Given the description of an element on the screen output the (x, y) to click on. 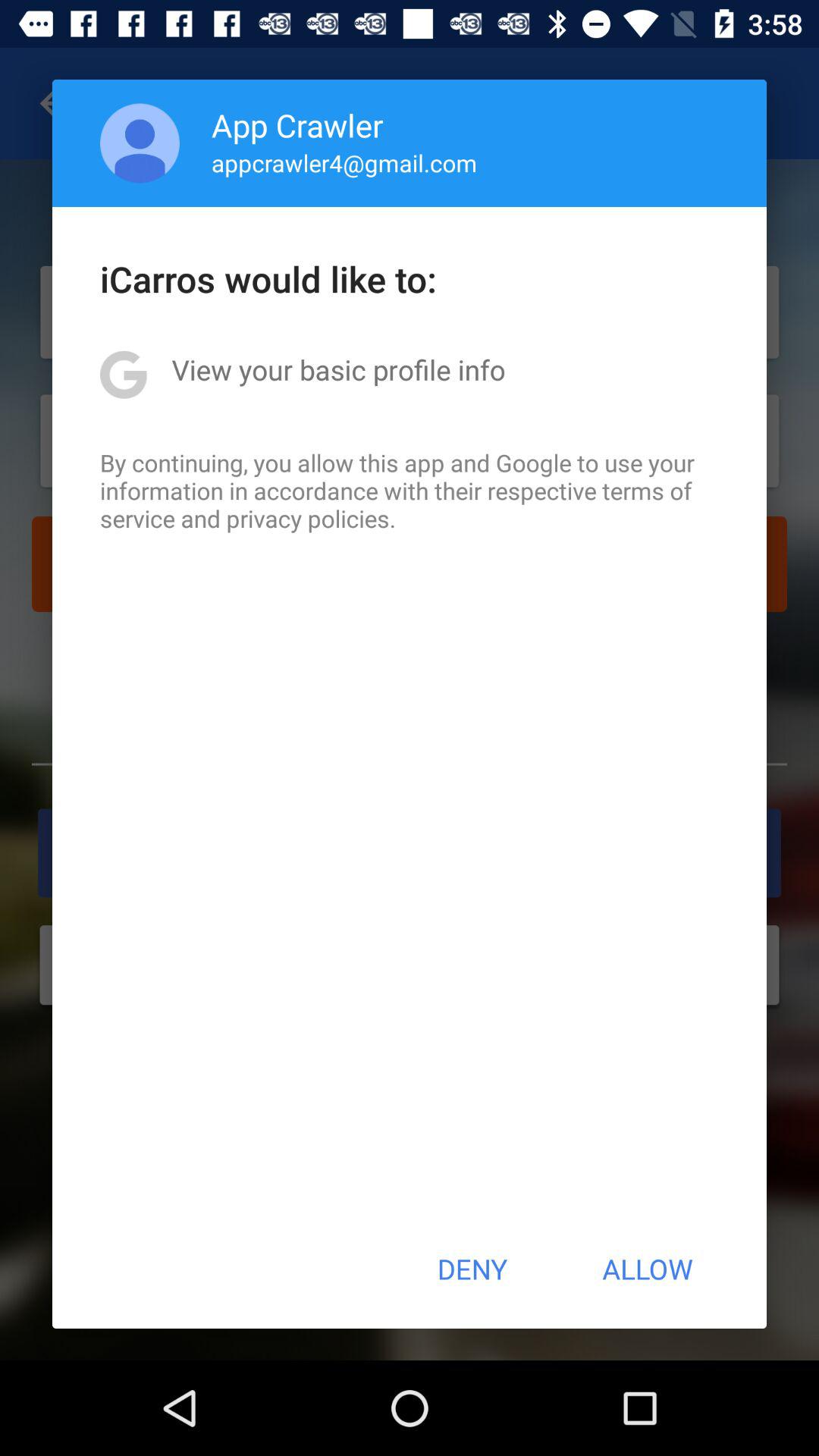
click item below icarros would like icon (338, 369)
